Given the description of an element on the screen output the (x, y) to click on. 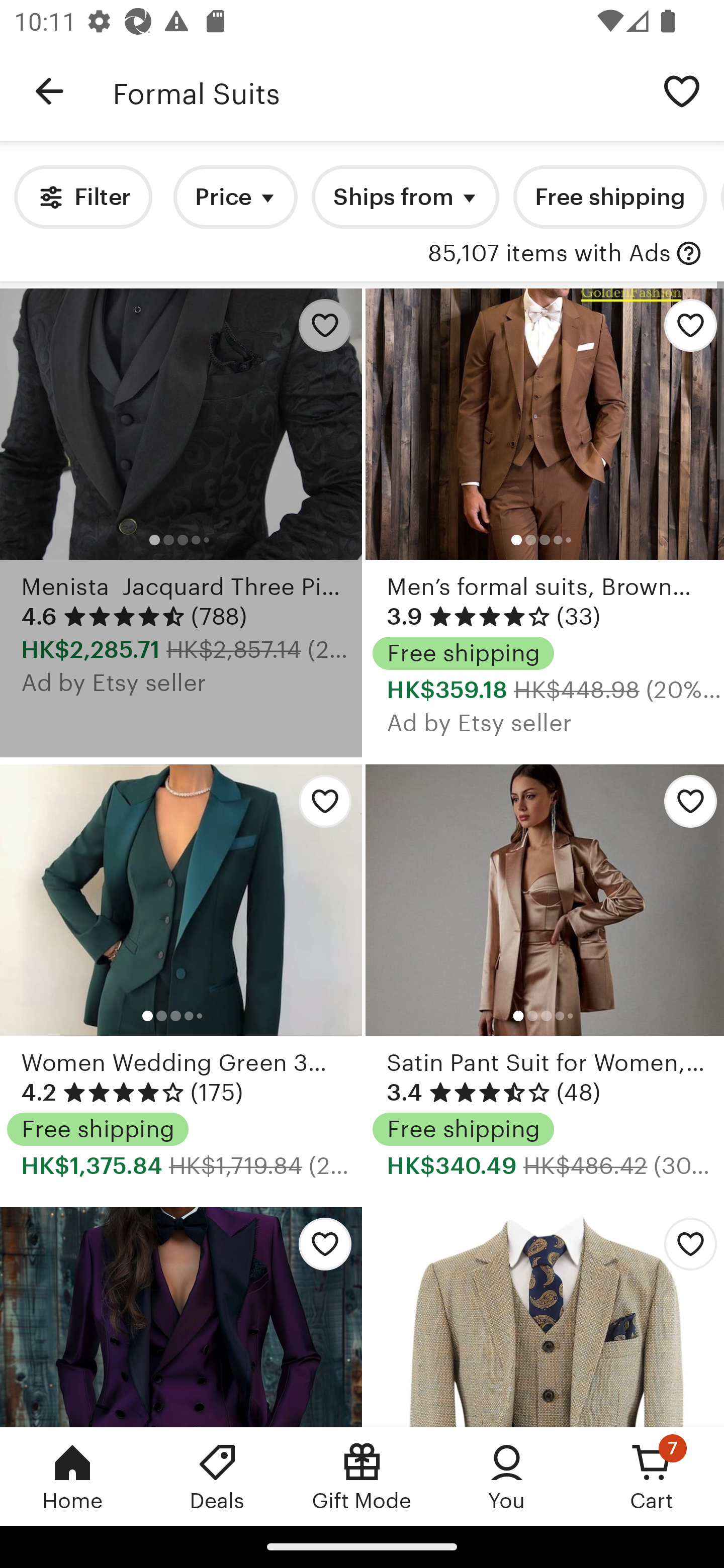
Navigate up (49, 91)
Save search (681, 90)
Formal Suits (375, 91)
Filter (82, 197)
Price (235, 197)
Ships from (405, 197)
Free shipping (609, 197)
85,107 items with Ads (549, 253)
with Ads (688, 253)
Deals (216, 1475)
Gift Mode (361, 1475)
You (506, 1475)
Cart, 7 new notifications Cart (651, 1475)
